Given the description of an element on the screen output the (x, y) to click on. 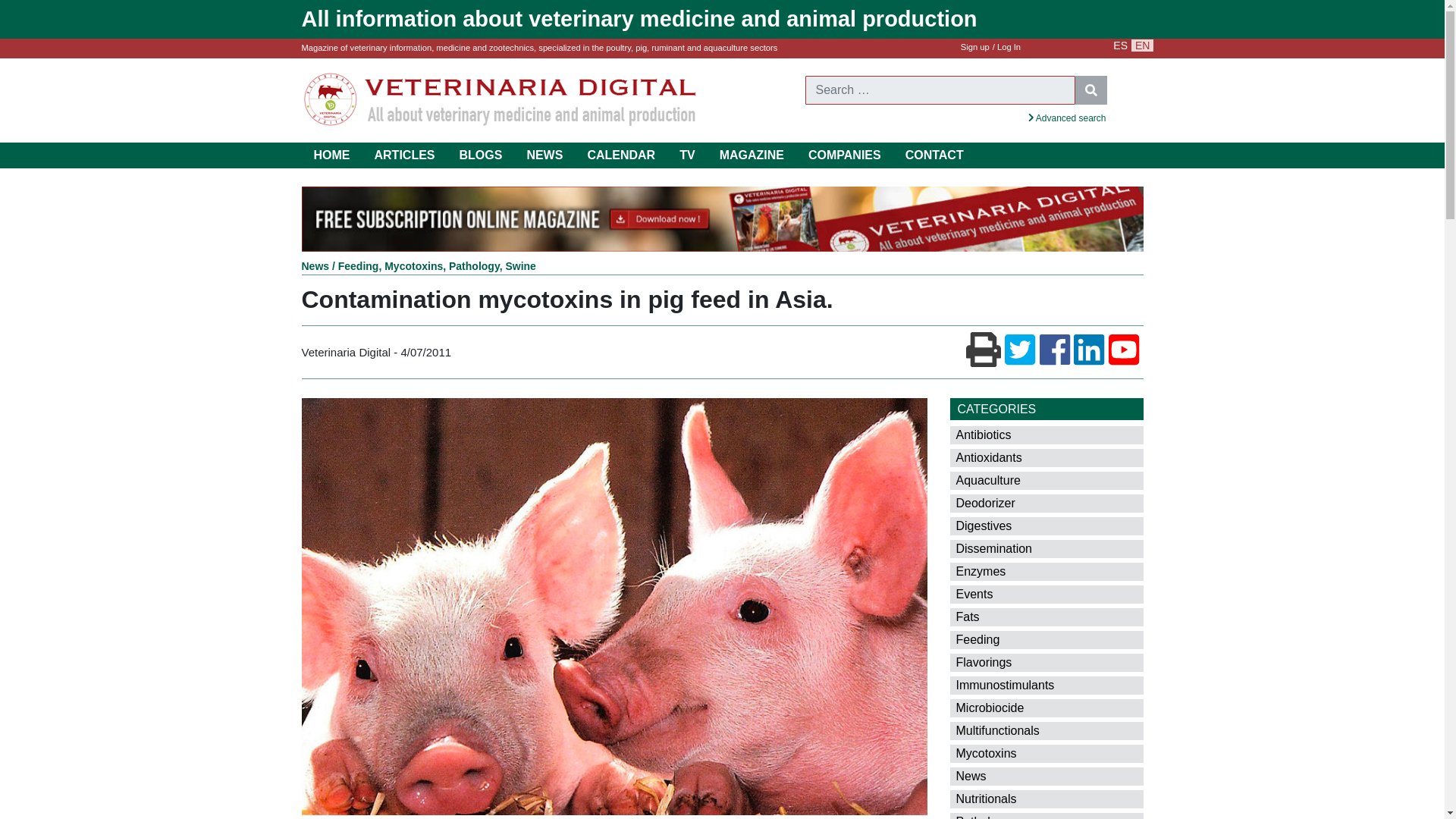
Swine (520, 265)
CALENDAR (620, 154)
Veterinaria Digital (500, 99)
NEWS (543, 154)
ARTICLES (404, 154)
Search for: (940, 90)
EN (1142, 45)
News (315, 265)
Pathology (473, 265)
MAGAZINE (751, 154)
BLOGS (481, 154)
ES (1120, 45)
CONTACT (934, 154)
Feeding (357, 265)
banner1170x90-en suscripcion (721, 218)
